Given the description of an element on the screen output the (x, y) to click on. 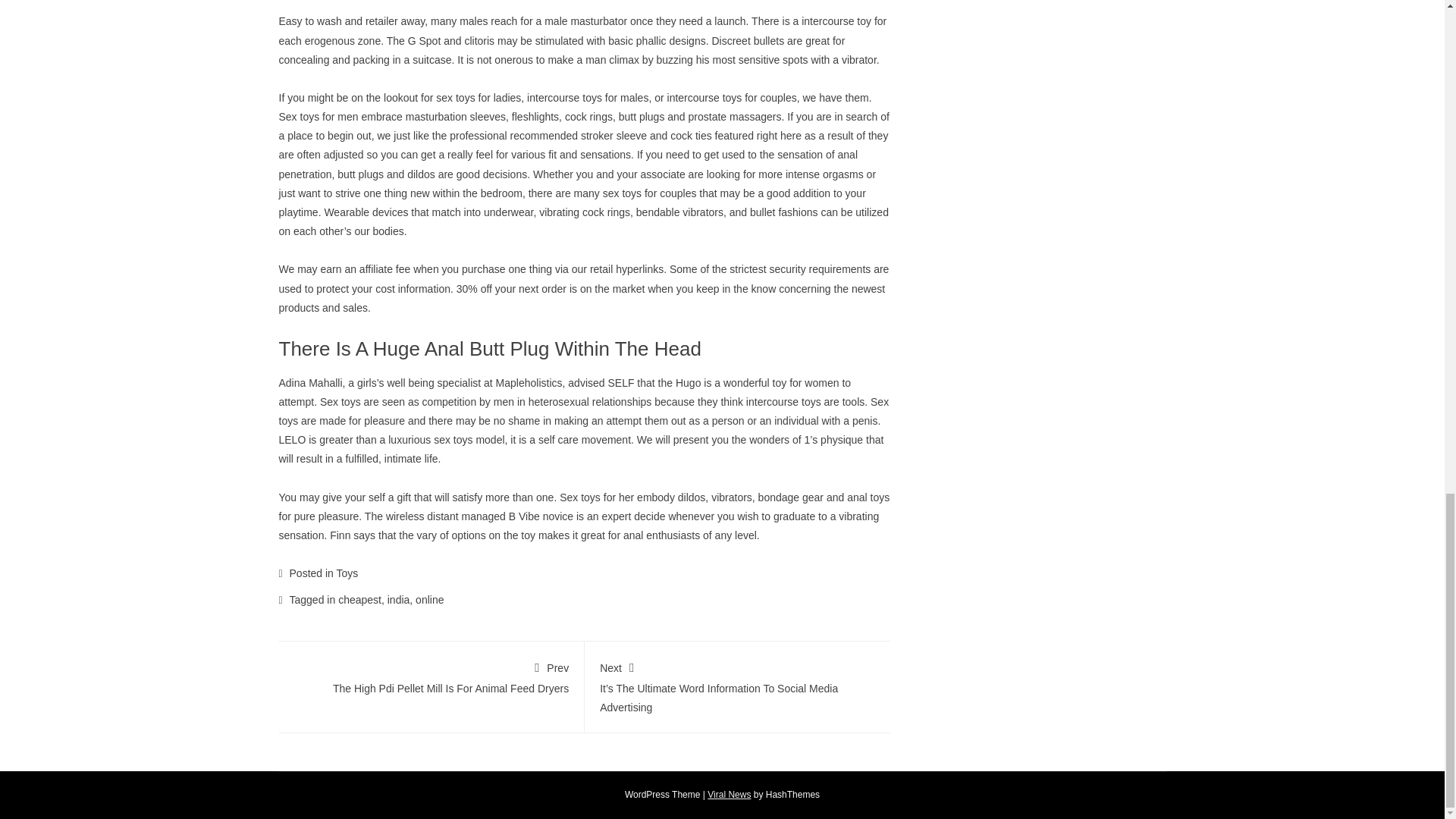
Toys (347, 573)
Viral News (729, 794)
online (429, 599)
cheapest (359, 599)
india (398, 599)
Download Viral News (729, 794)
